Given the description of an element on the screen output the (x, y) to click on. 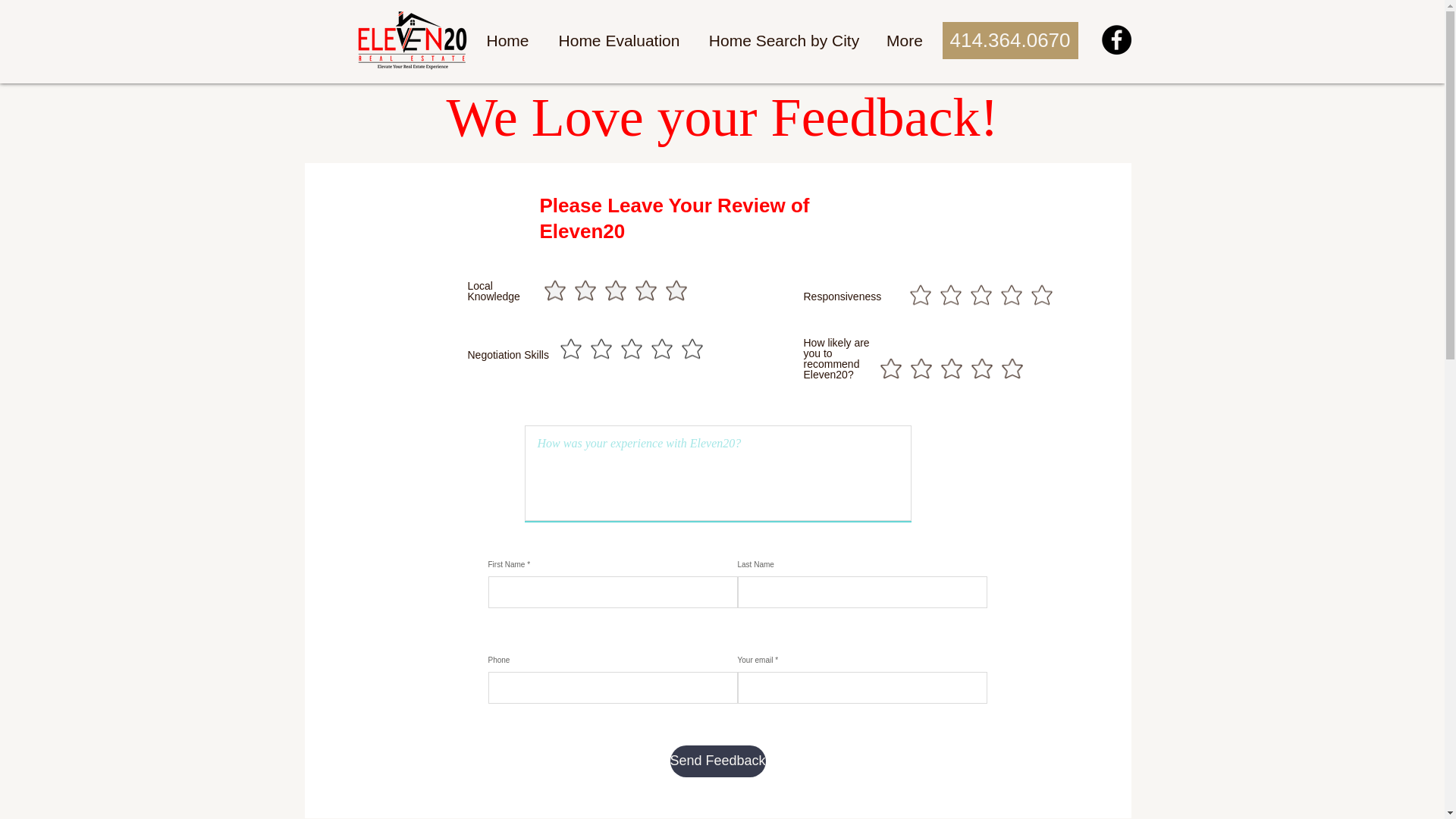
Home Search by City (783, 40)
Home Evaluation (618, 40)
Send Feedback (717, 761)
414.364.0670 (1009, 40)
Home (507, 40)
